Given the description of an element on the screen output the (x, y) to click on. 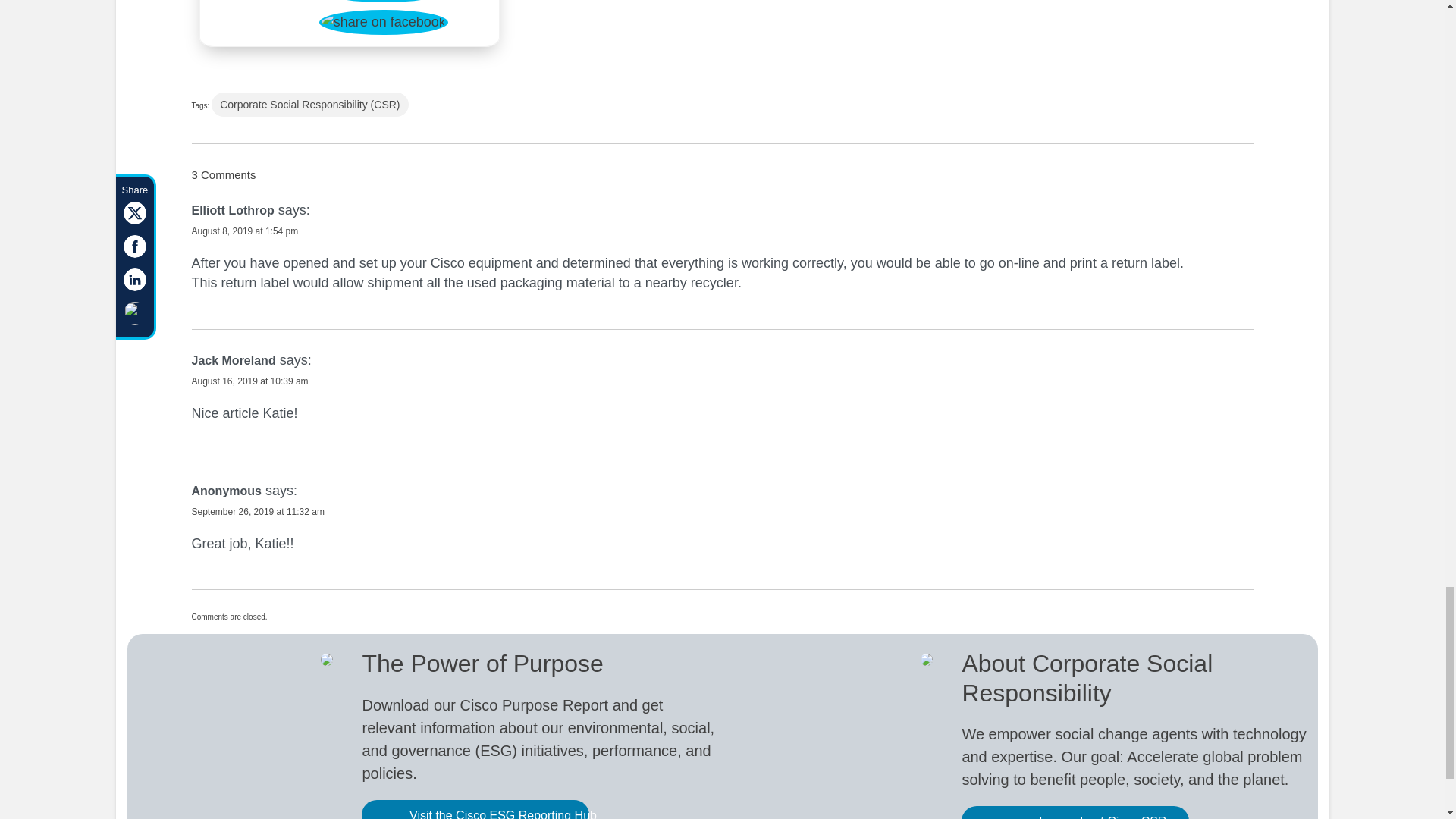
Visit the Cisco ESG Reporting Hub (475, 809)
August 8, 2019 at 1:54 pm (244, 231)
Learn about Cisco CSR (1074, 812)
August 16, 2019 at 10:39 am (248, 380)
September 26, 2019 at 11:32 am (256, 511)
